Given the description of an element on the screen output the (x, y) to click on. 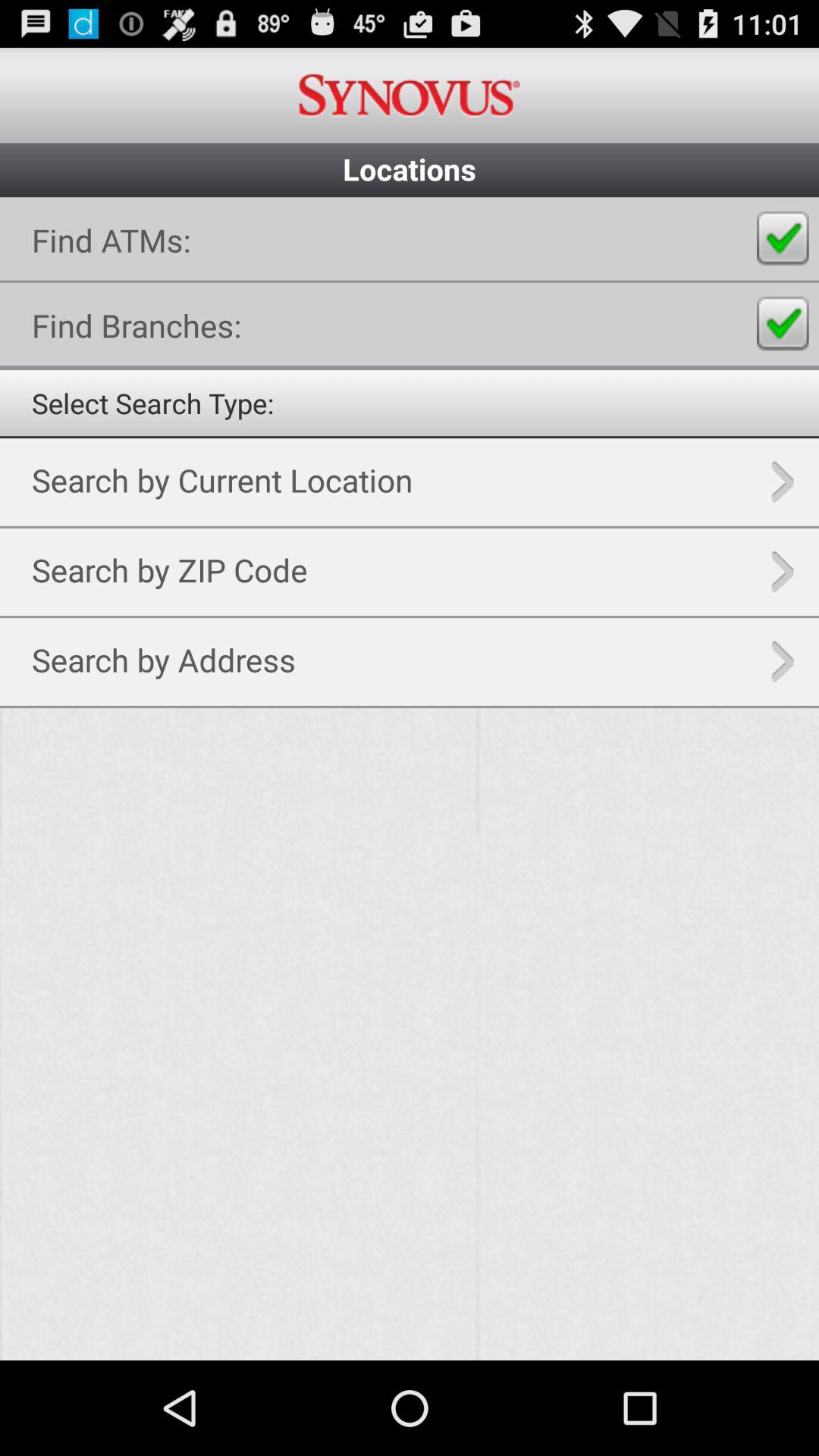
option (409, 778)
